Given the description of an element on the screen output the (x, y) to click on. 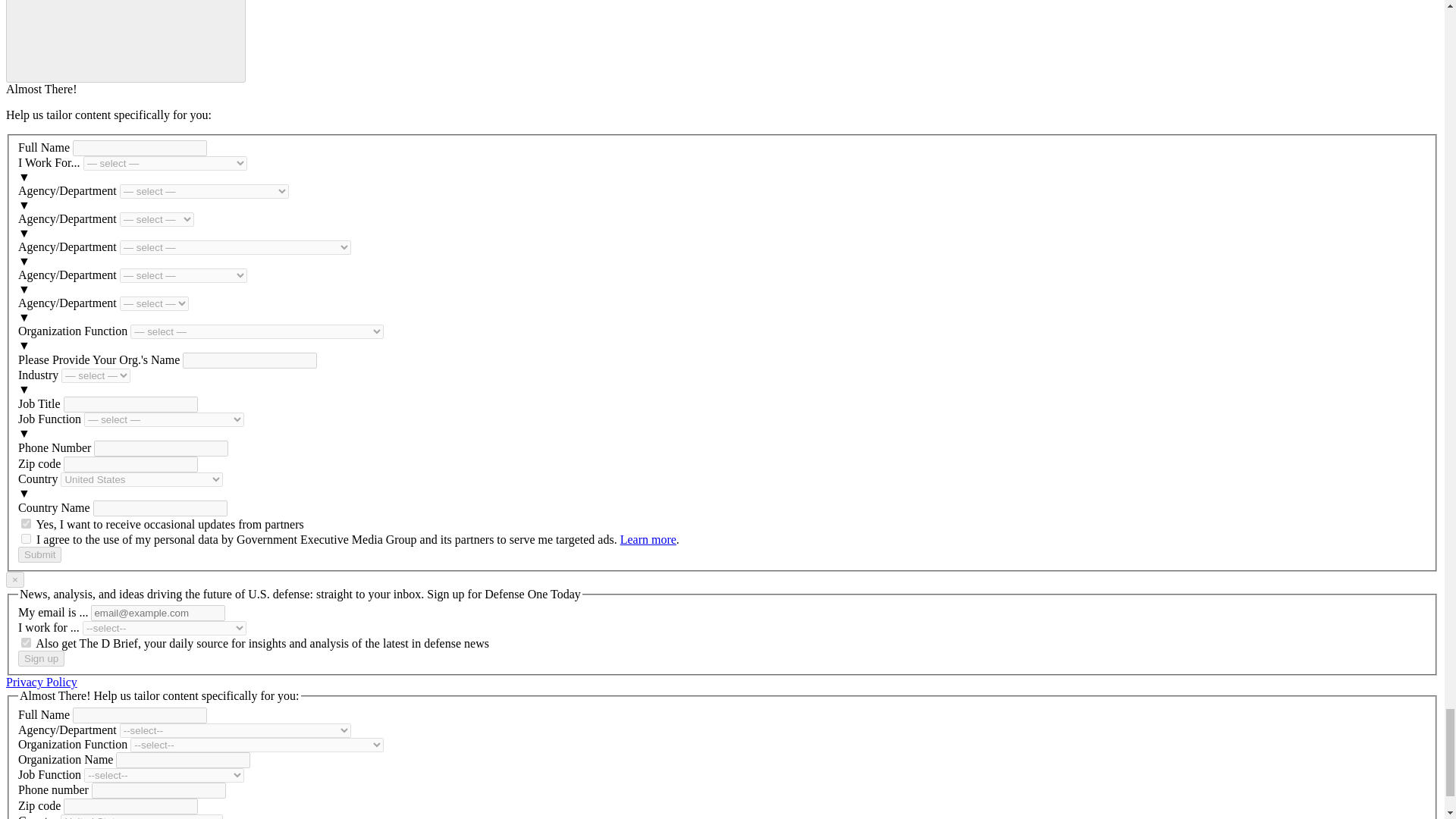
on (25, 538)
on (25, 523)
on (25, 642)
Submit (39, 554)
